Given the description of an element on the screen output the (x, y) to click on. 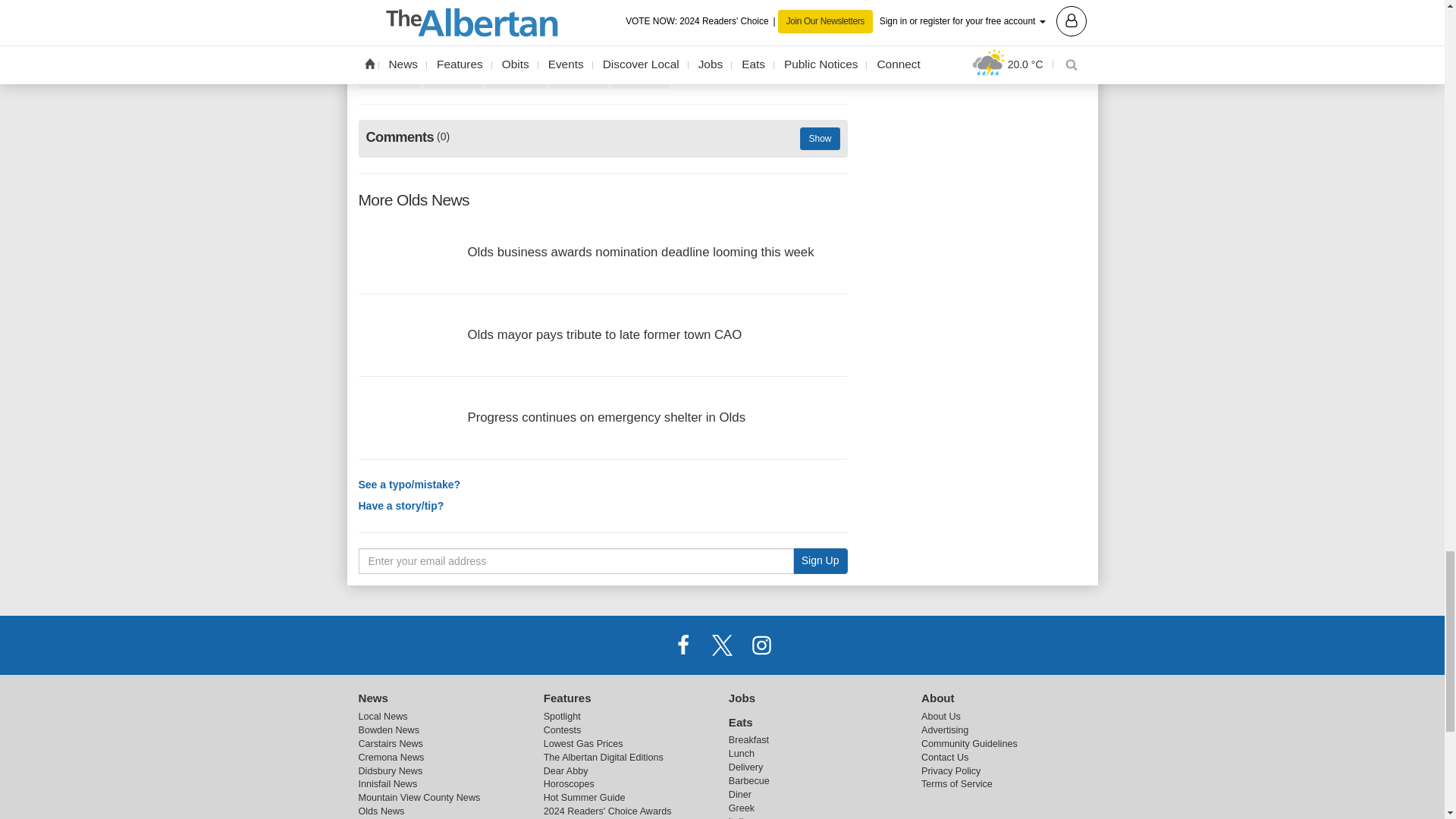
Instagram (760, 644)
Facebook (683, 644)
X (721, 644)
